Given the description of an element on the screen output the (x, y) to click on. 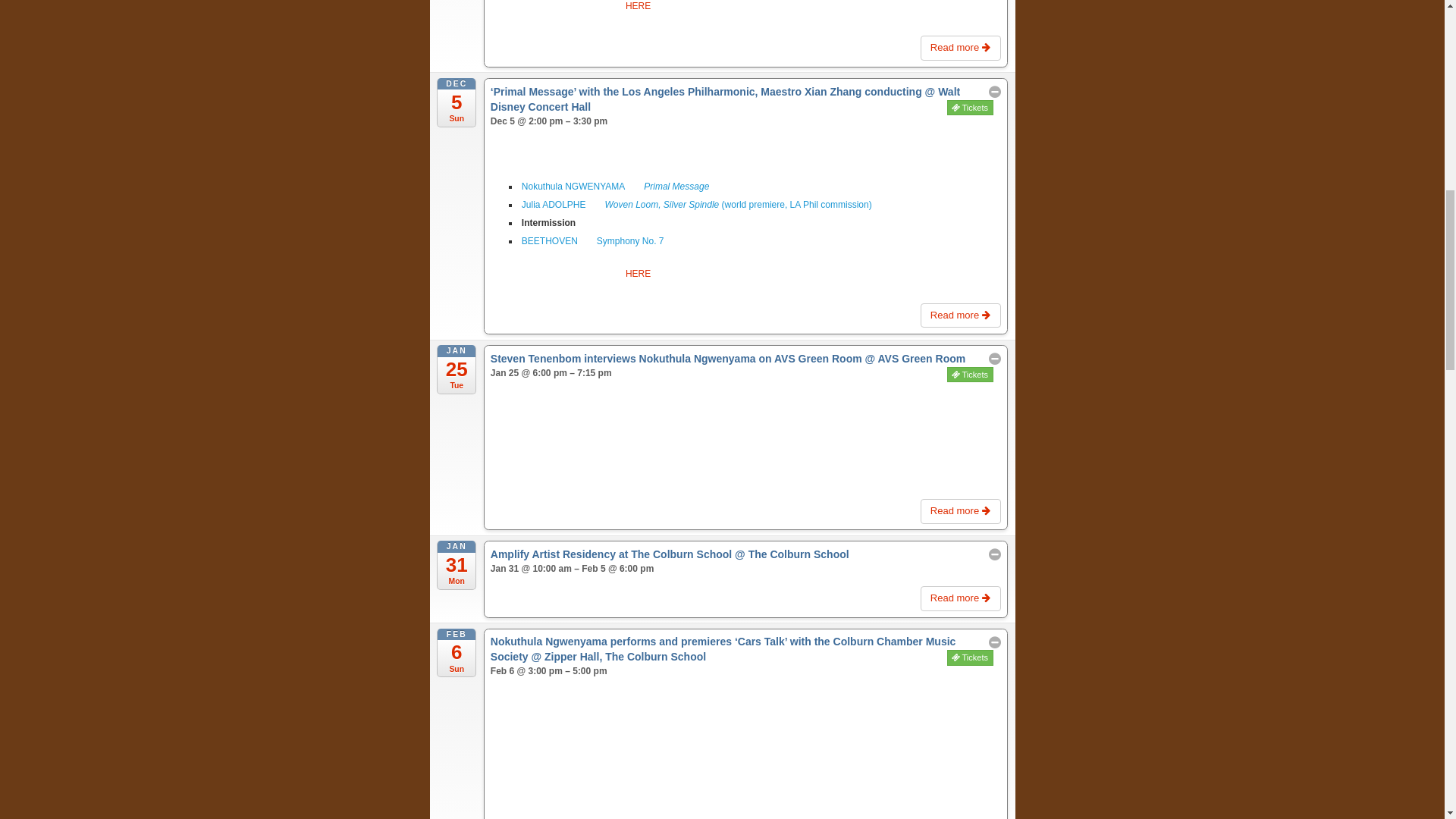
Julia ADOLPHE (553, 204)
Tickets (969, 107)
Read more (960, 48)
Nokuthula NGWENYAMA (572, 185)
HERE (638, 5)
Primal Message (676, 185)
